Given the description of an element on the screen output the (x, y) to click on. 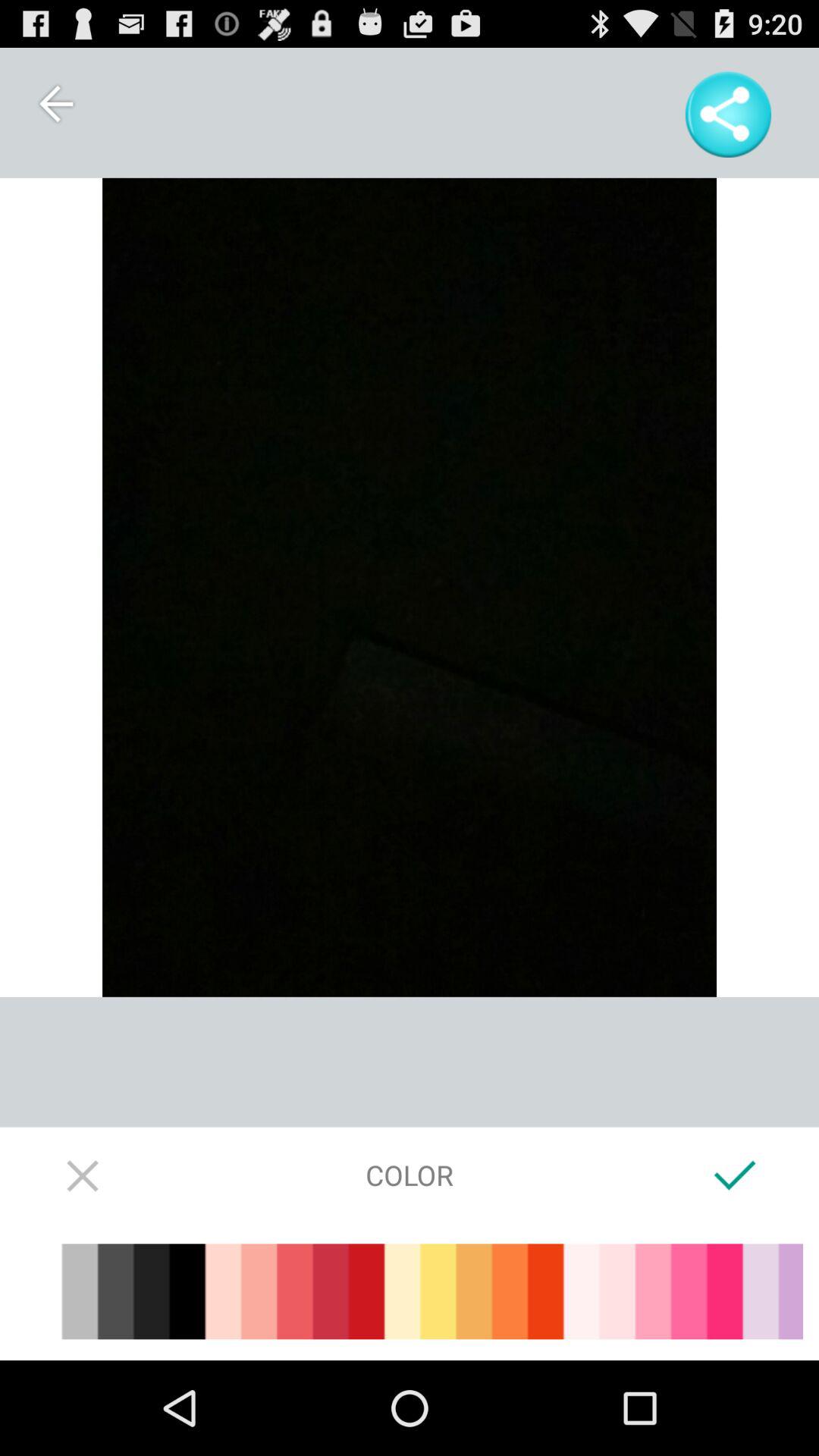
tap icon to the right of the color item (735, 1174)
